Given the description of an element on the screen output the (x, y) to click on. 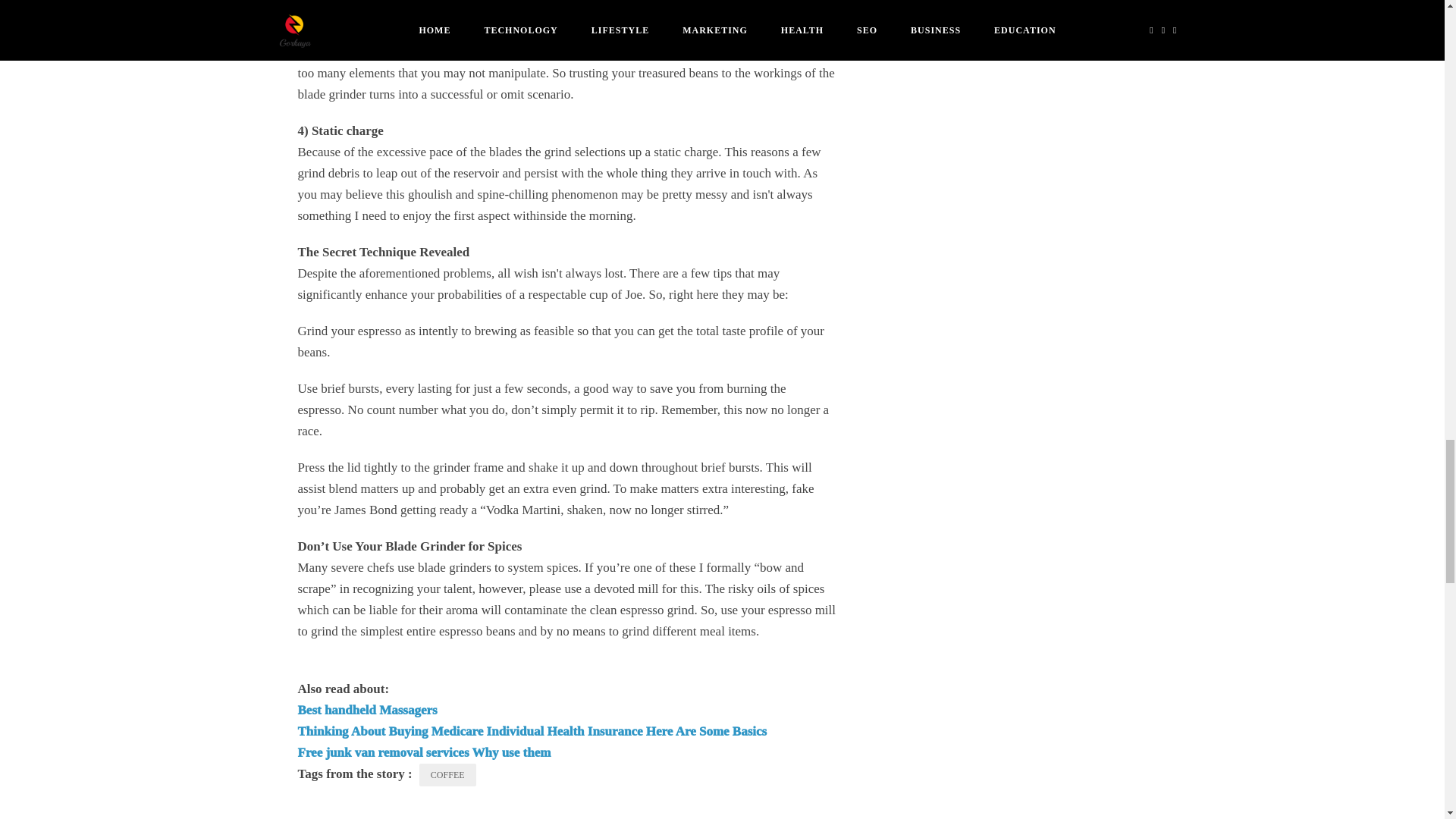
Best handheld Massagers (366, 709)
Free junk van removal services Why use them (423, 752)
